Given the description of an element on the screen output the (x, y) to click on. 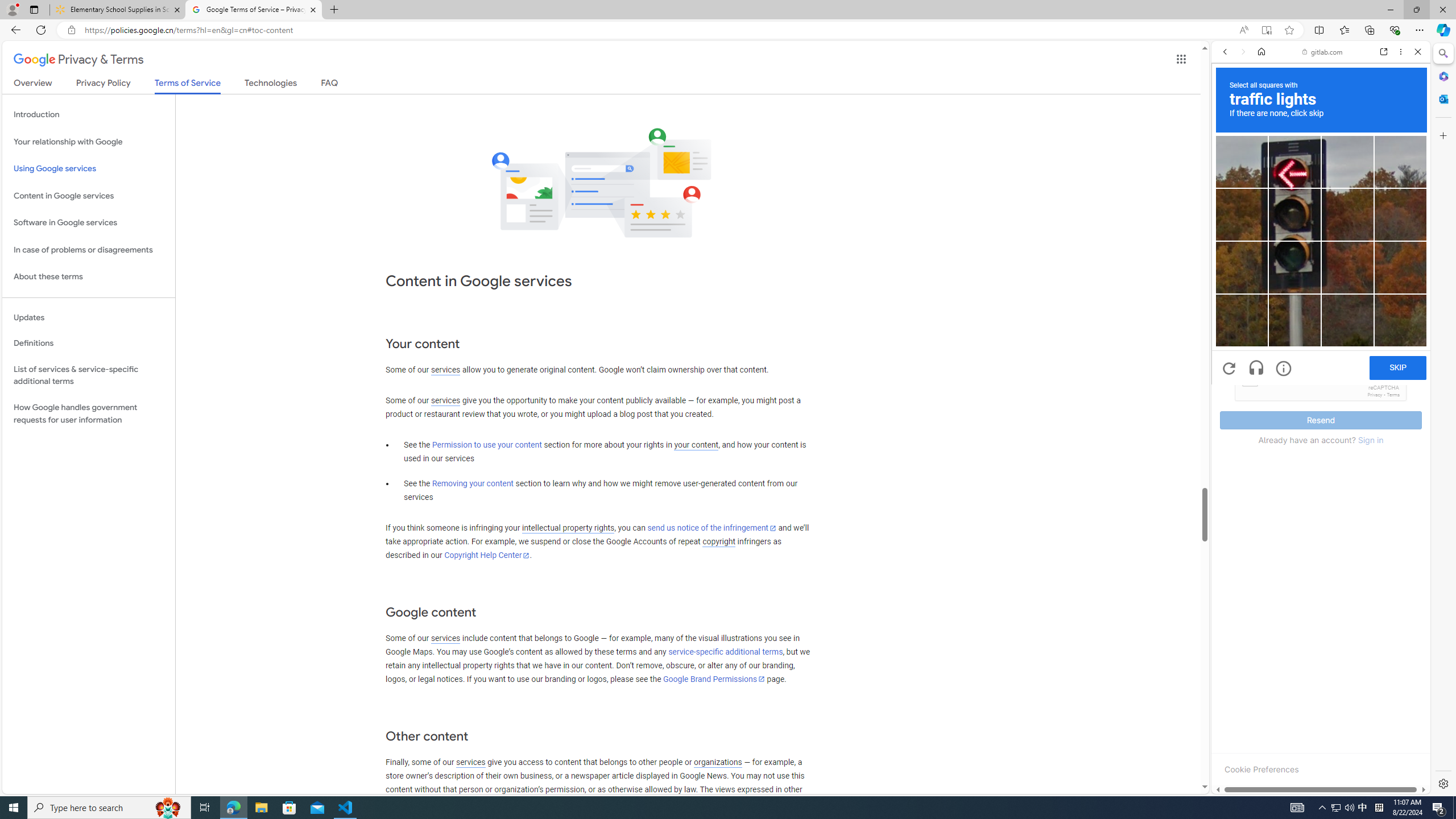
Email (1321, 301)
About GitLab (1320, 337)
Dashboard (1320, 365)
